Given the description of an element on the screen output the (x, y) to click on. 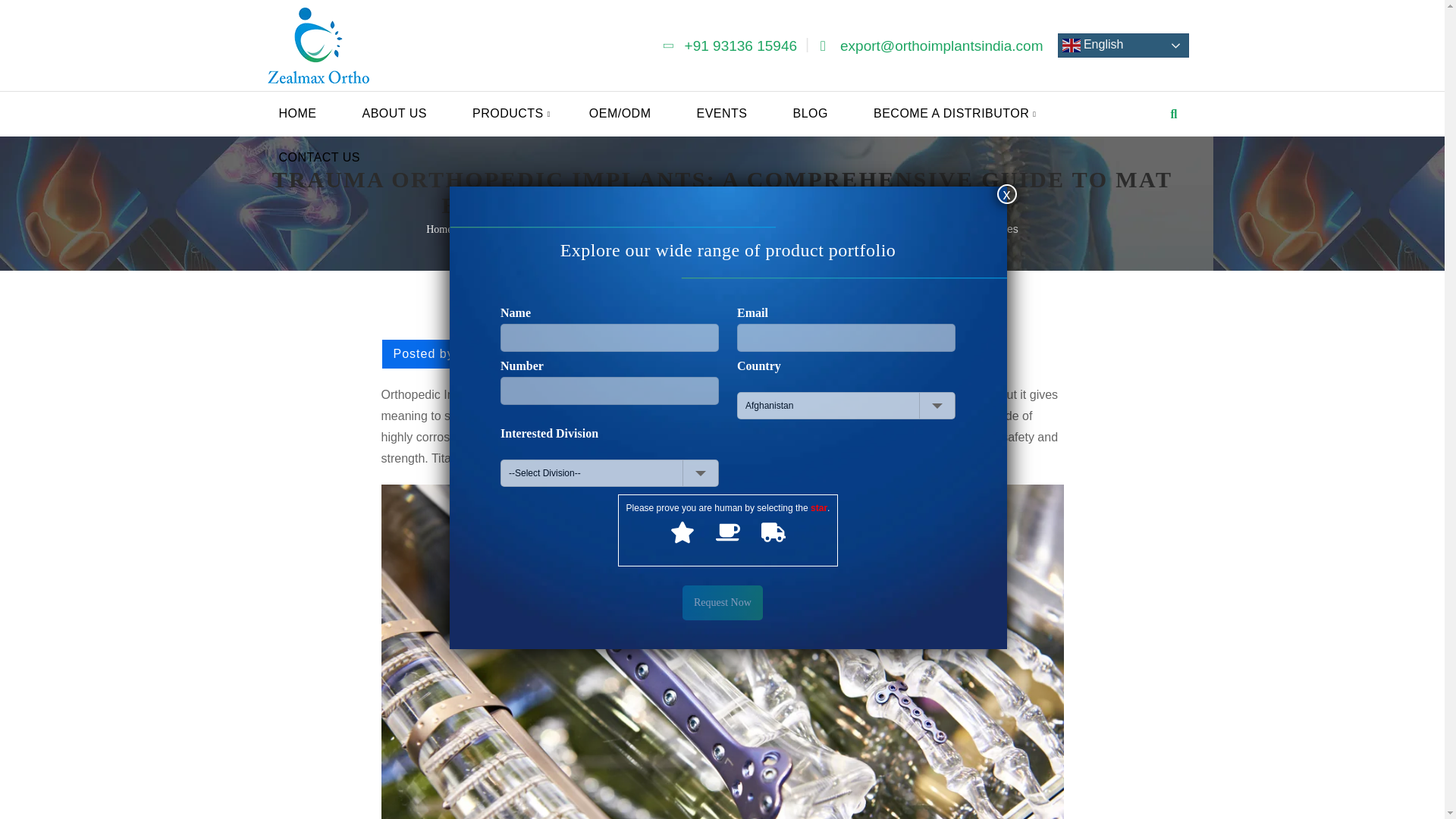
ABOUT US (394, 113)
PRODUCTS (507, 113)
Request Now (722, 602)
View all posts by Zealmax Ortho (508, 353)
English (1122, 45)
HOME (296, 113)
